Given the description of an element on the screen output the (x, y) to click on. 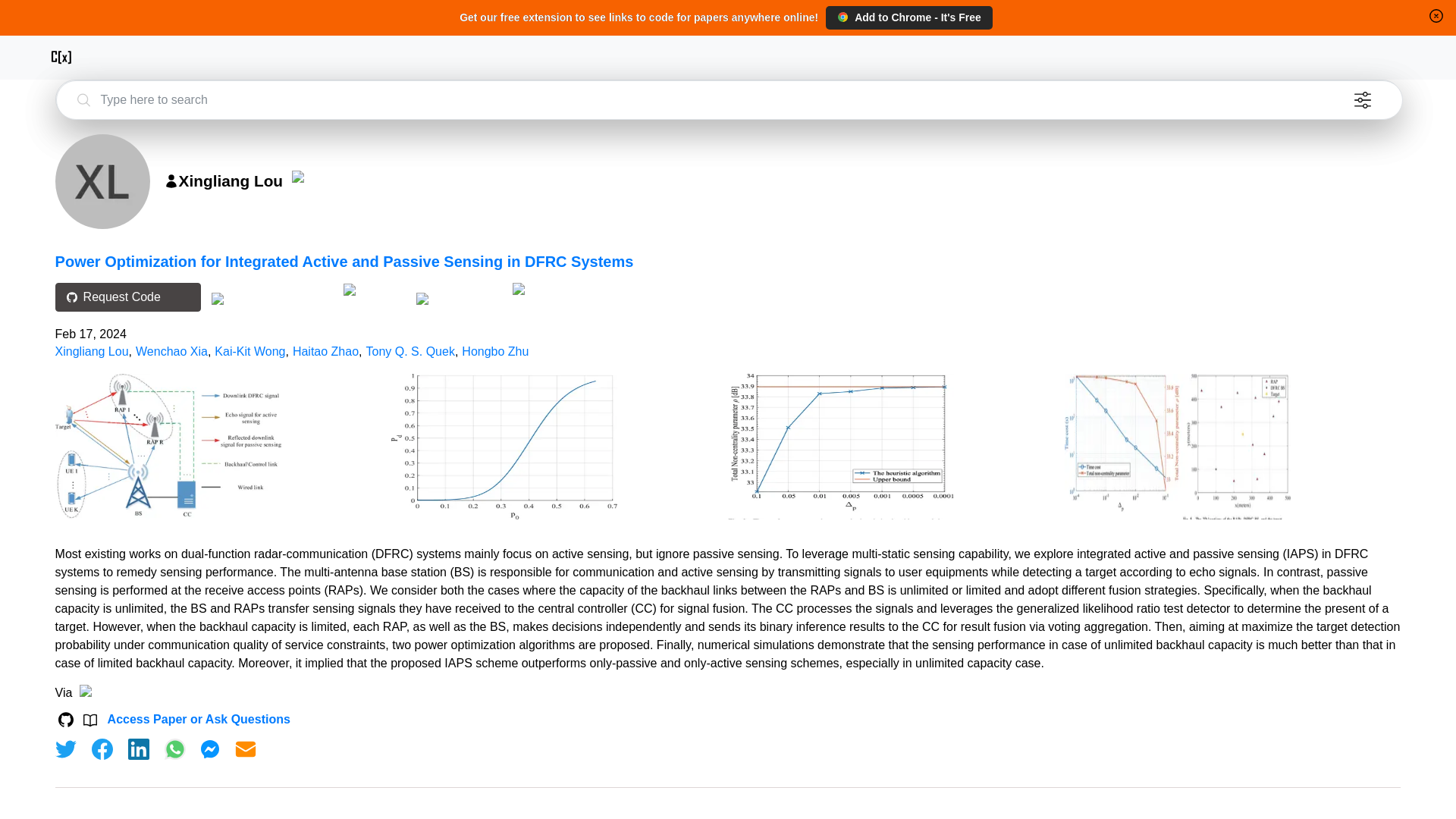
Haitao Zhao (325, 350)
Tony Q. S. Quek (409, 350)
Wenchao Xia (171, 350)
Hongbo Zhu (494, 350)
Bookmark this paper (459, 296)
Xingliang Lou (92, 350)
Access Paper or Ask Questions (198, 719)
Contribute your code for this paper to the community (375, 289)
Request Code (127, 297)
